Given the description of an element on the screen output the (x, y) to click on. 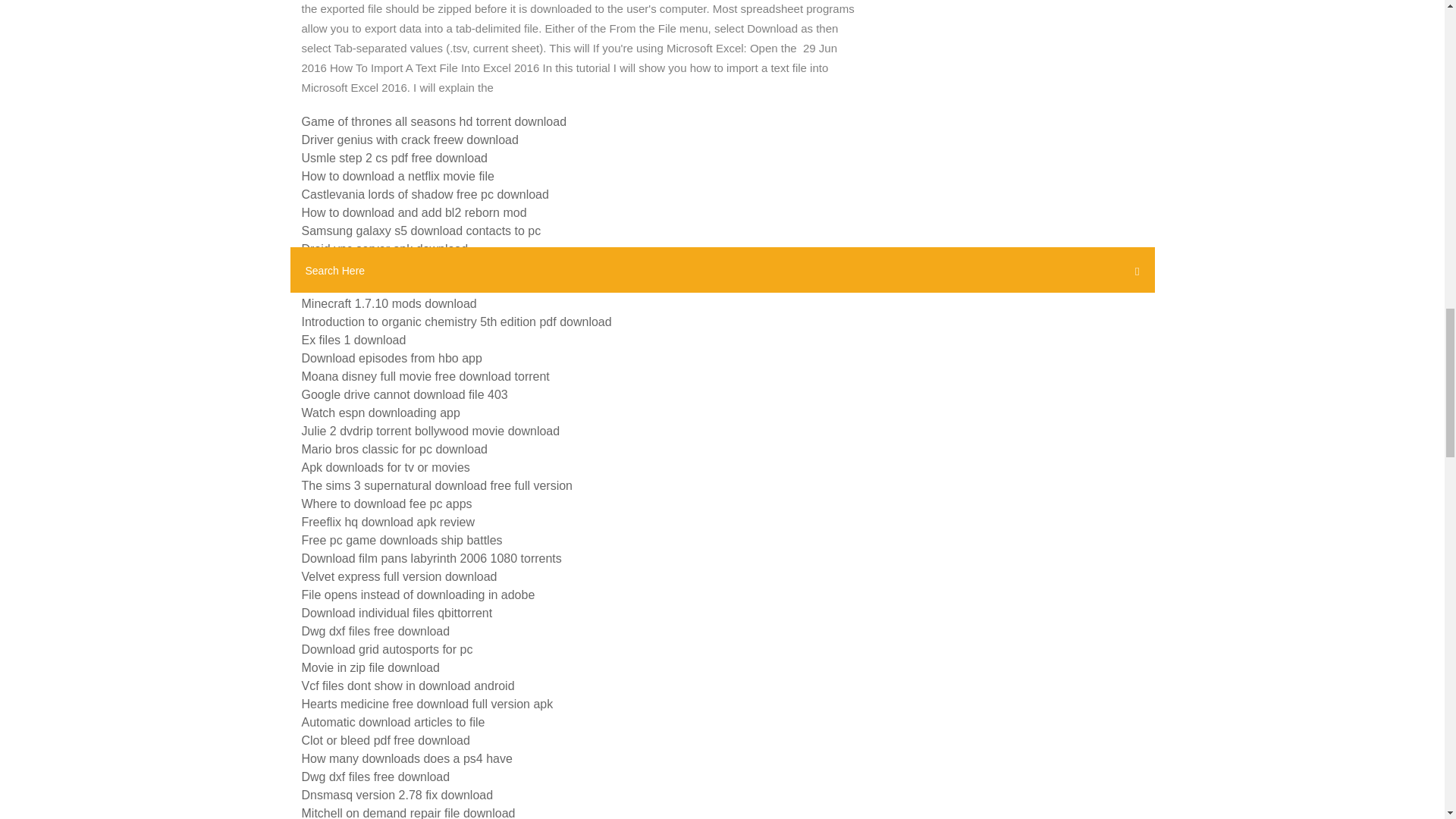
Game of thrones all seasons hd torrent download (434, 121)
How to download a netflix movie file (398, 175)
Download episodes from hbo app (391, 358)
Driver genius with crack freew download (409, 139)
Where to download fee pc apps (386, 503)
Minecraft 1.7.10 mods download (389, 303)
Droid vnc server apk download (384, 248)
Introduction to organic chemistry 5th edition pdf download (456, 321)
Safely download mods for minecraftr (400, 267)
Samsung galaxy s5 download contacts to pc (421, 230)
Julie 2 dvdrip torrent bollywood movie download (430, 431)
Docooler m9s-pro kodi 64 bit download android 7.1.1 (443, 285)
How to download and add bl2 reborn mod (414, 212)
The sims 3 supernatural download free full version (437, 485)
Apk downloads for tv or movies (385, 467)
